Given the description of an element on the screen output the (x, y) to click on. 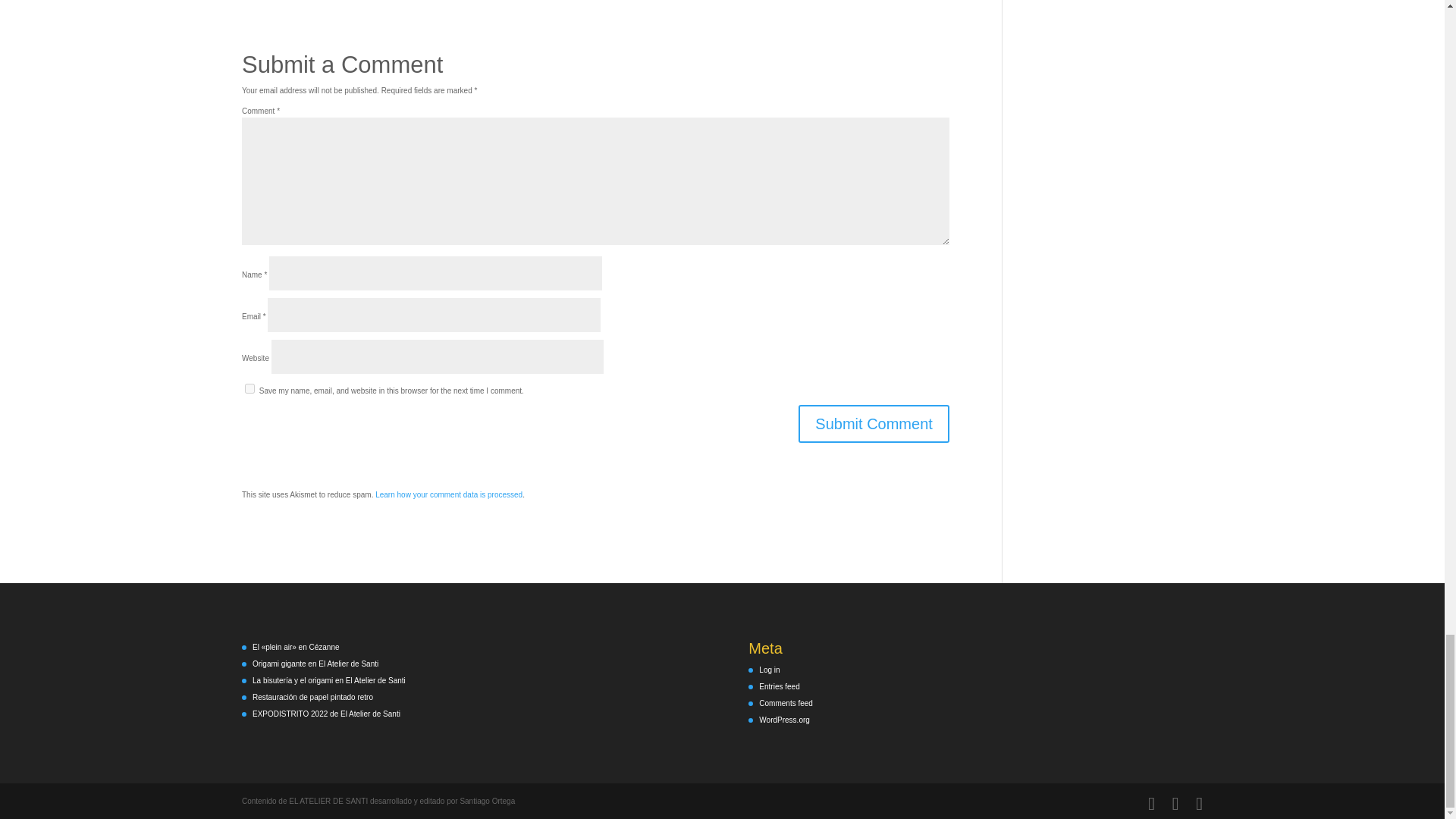
Learn how your comment data is processed (448, 494)
Submit Comment (873, 423)
Origami gigante en El Atelier de Santi (314, 664)
Submit Comment (873, 423)
Entries feed (778, 686)
EXPODISTRITO 2022 de El Atelier de Santi (325, 714)
yes (249, 388)
Comments feed (785, 703)
WordPress.org (783, 719)
Log in (768, 669)
